Given the description of an element on the screen output the (x, y) to click on. 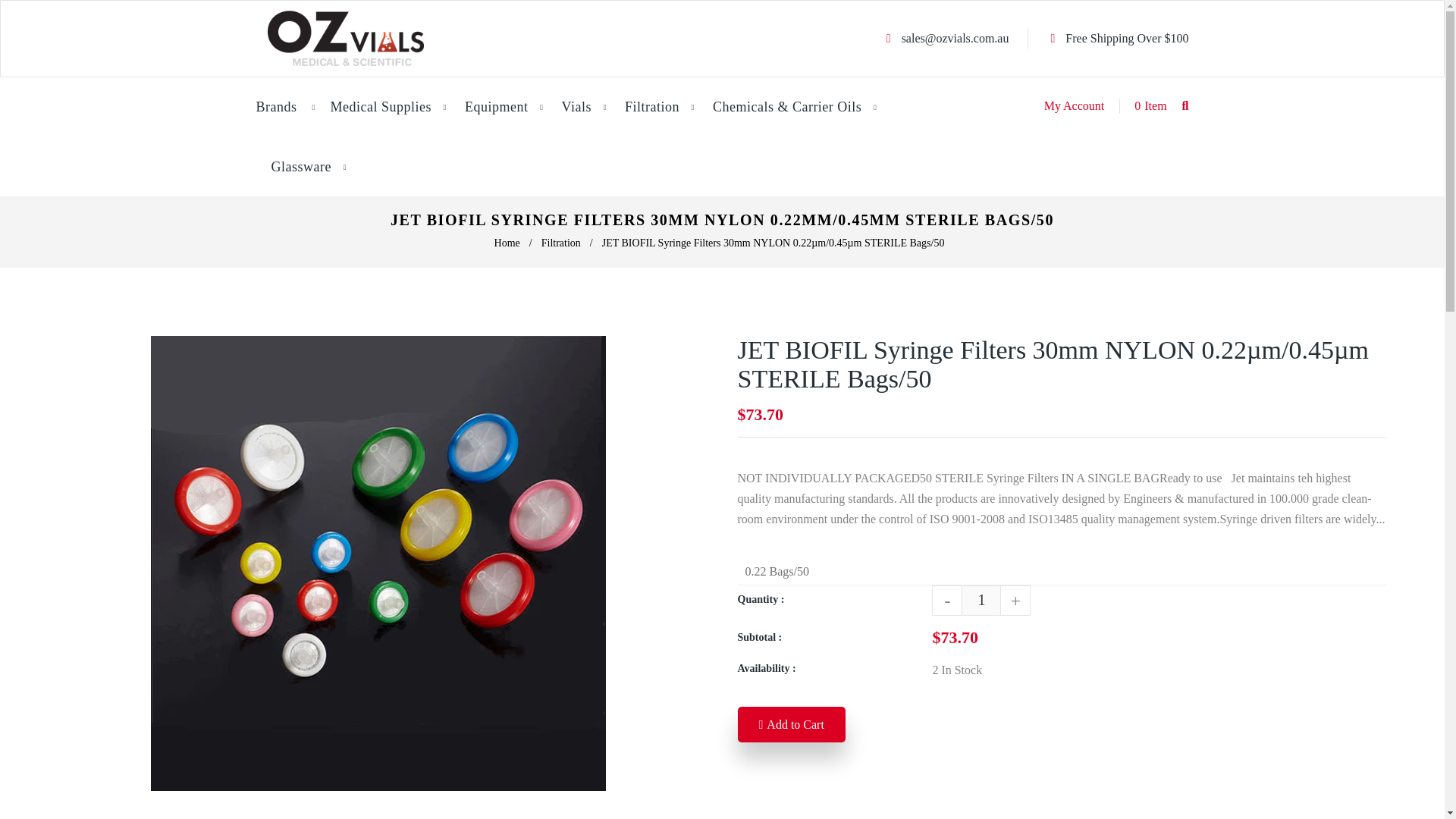
Brands (284, 106)
1 (981, 600)
Medical Supplies (380, 106)
Back to the frontpage (508, 242)
Log in (1074, 105)
Equipment (496, 106)
